Given the description of an element on the screen output the (x, y) to click on. 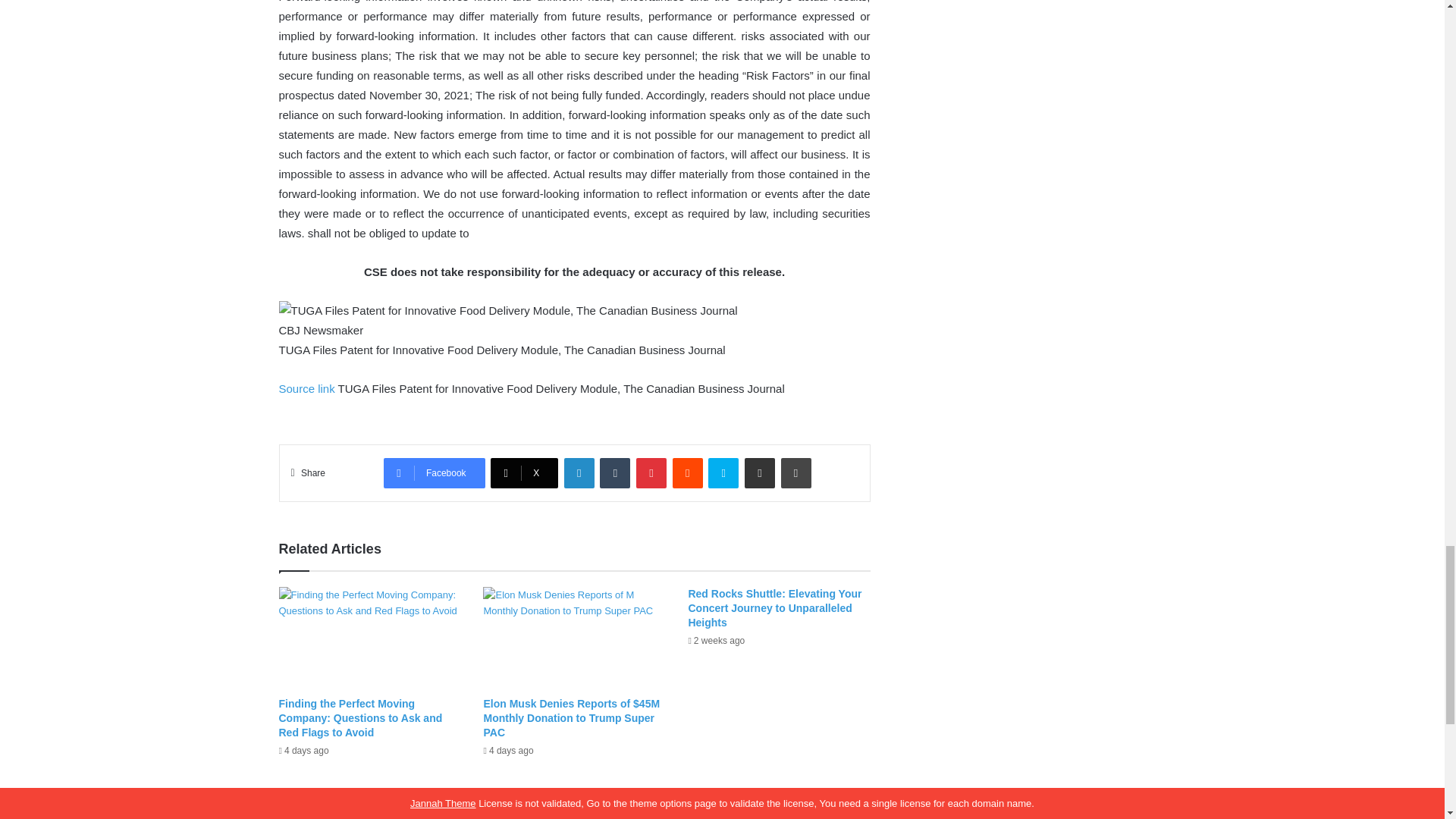
Source link (308, 388)
Tumblr (614, 472)
Pinterest (651, 472)
Skype (722, 472)
Pinterest (651, 472)
LinkedIn (579, 472)
Skype (722, 472)
Reddit (687, 472)
LinkedIn (579, 472)
Reddit (687, 472)
X (523, 472)
Facebook (434, 472)
Tumblr (614, 472)
X (523, 472)
